Given the description of an element on the screen output the (x, y) to click on. 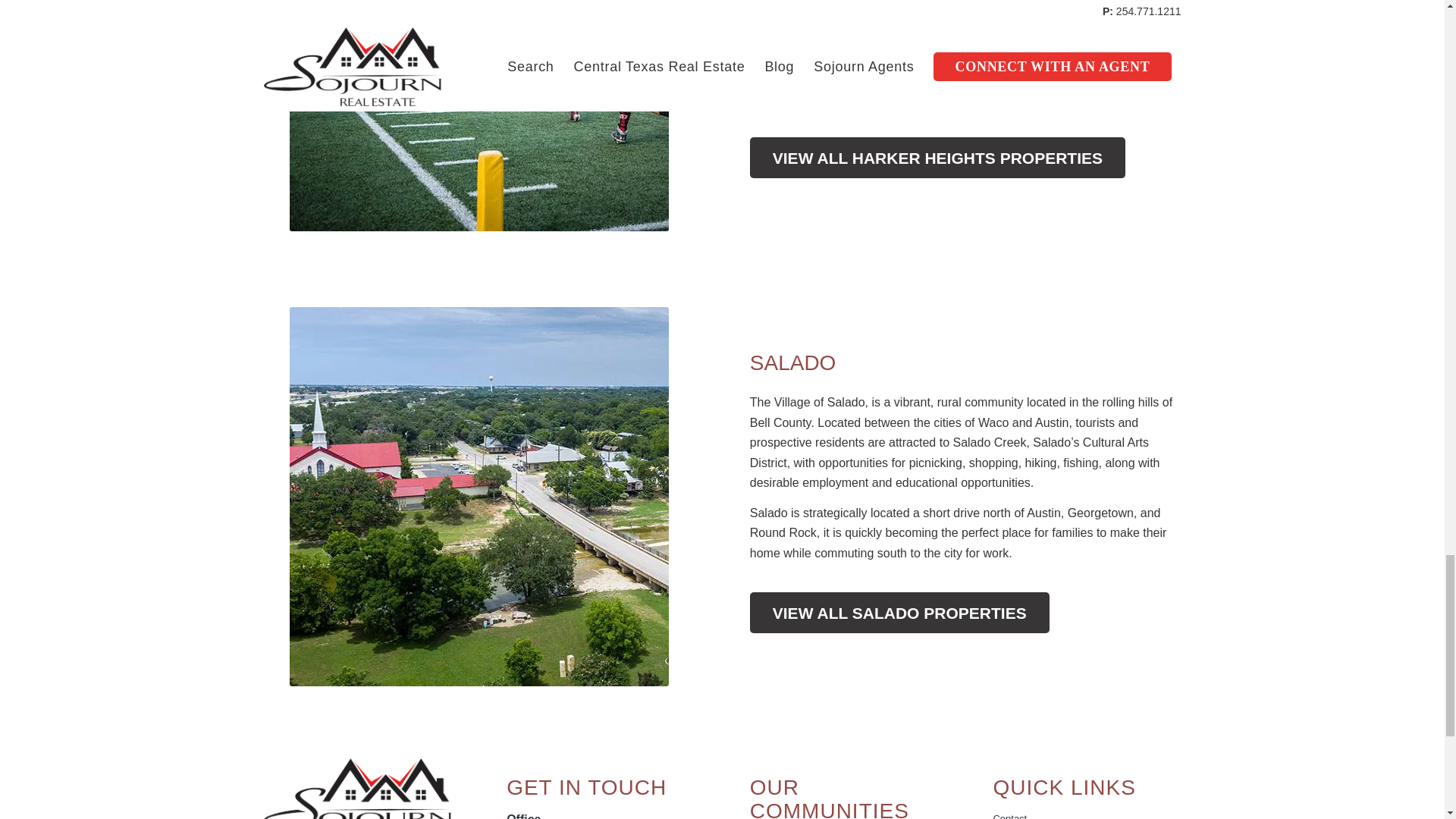
Contact (1086, 812)
harker-heights-community (478, 115)
VIEW ALL SALADO PROPERTIES (899, 612)
VIEW ALL HARKER HEIGHTS PROPERTIES (937, 157)
